Given the description of an element on the screen output the (x, y) to click on. 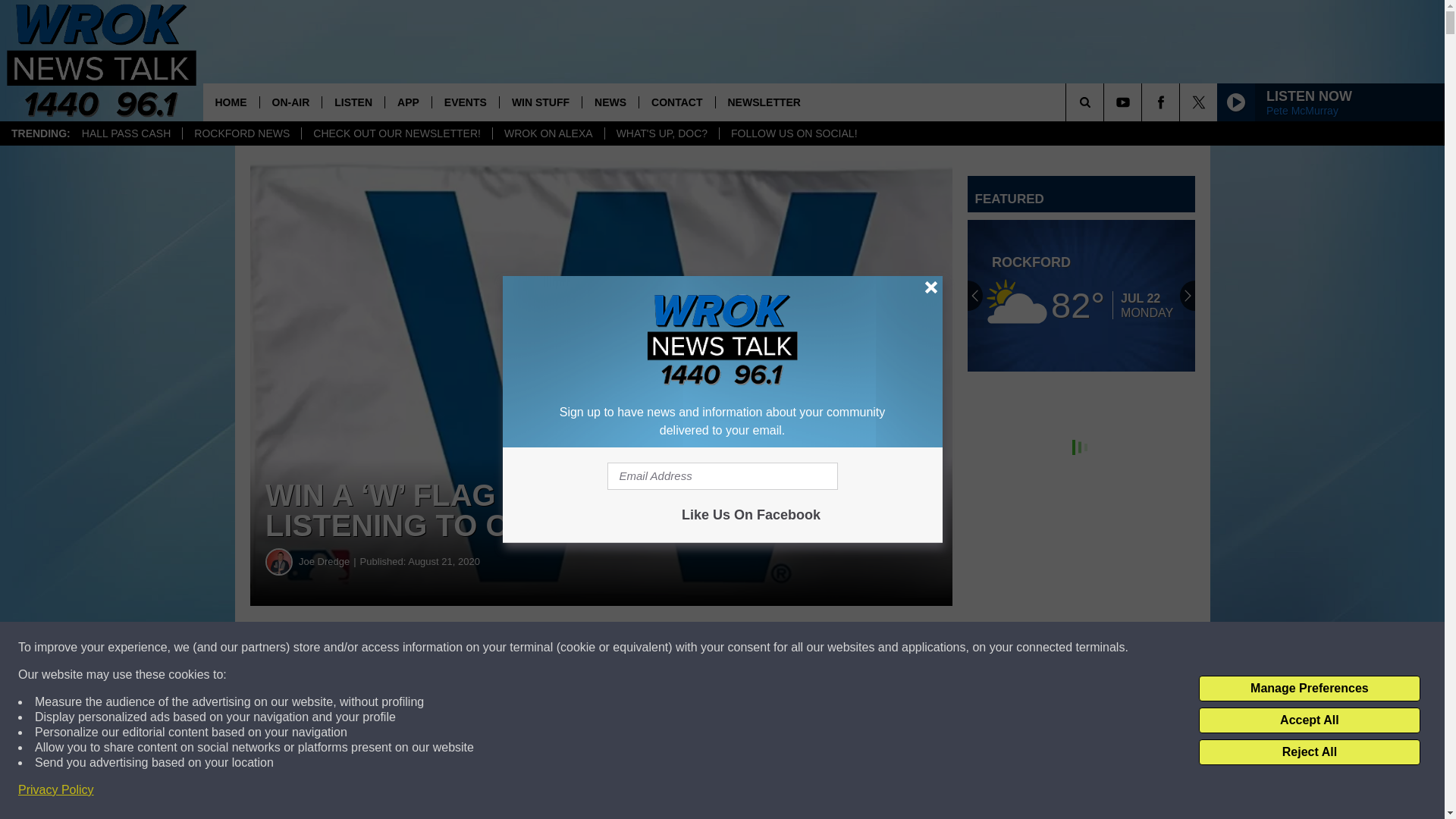
SEARCH (1106, 102)
NEWS (609, 102)
Accept All (1309, 720)
Manage Preferences (1309, 688)
WROK ON ALEXA (548, 133)
Share on Twitter (741, 647)
CHECK OUT OUR NEWSLETTER! (396, 133)
HALL PASS CASH (126, 133)
Email Address (722, 475)
FOLLOW US ON SOCIAL! (793, 133)
HOME (231, 102)
WHAT'S UP, DOC? (661, 133)
Reject All (1309, 751)
Privacy Policy (55, 789)
EVENTS (464, 102)
